Given the description of an element on the screen output the (x, y) to click on. 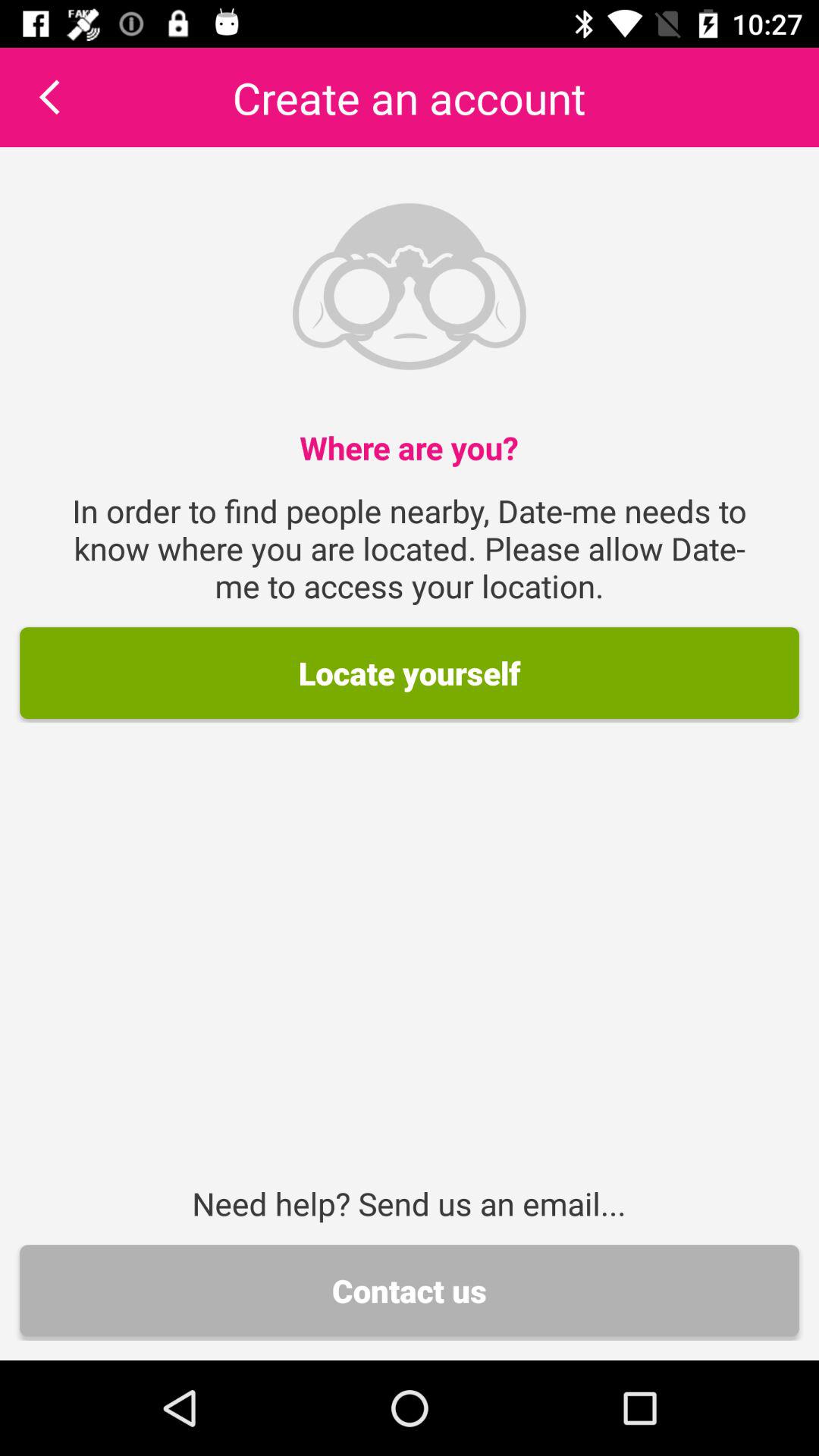
click the locate yourself (409, 672)
